Given the description of an element on the screen output the (x, y) to click on. 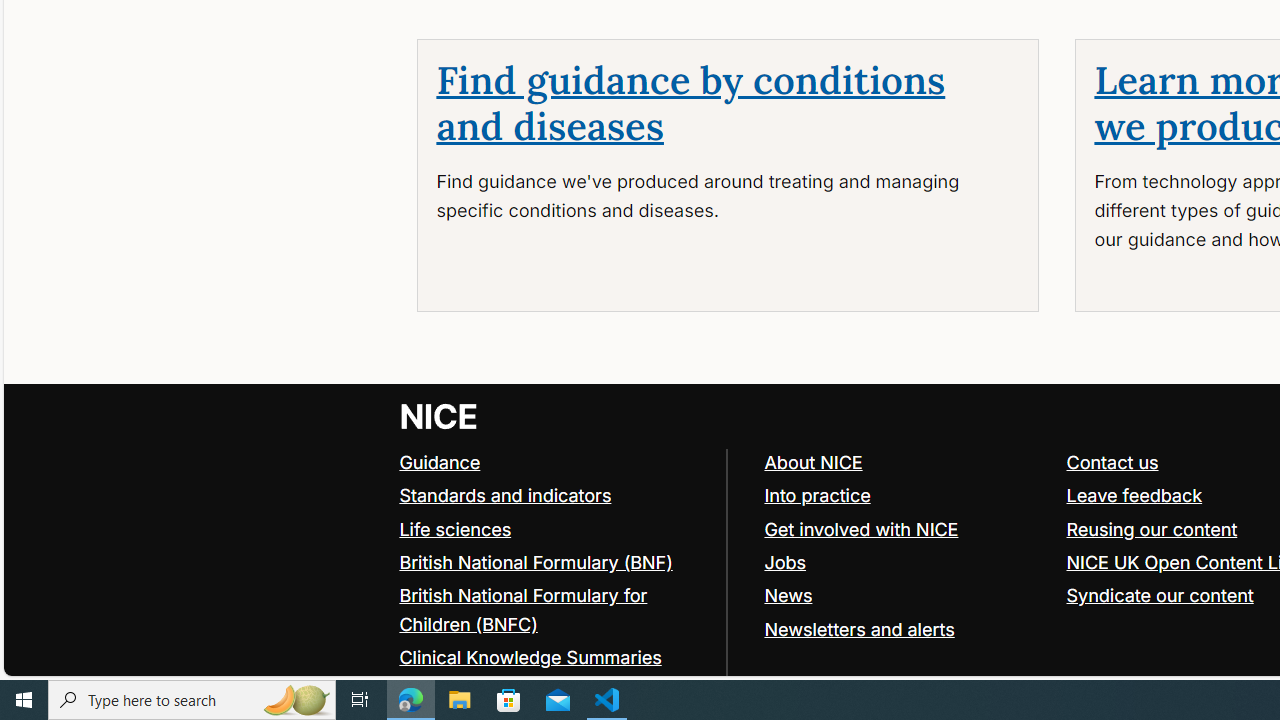
British National Formulary for Children (BNFC) (523, 609)
Jobs (785, 561)
About NICE (813, 461)
Contact us (1112, 461)
Get involved with NICE (861, 528)
British National Formulary for Children (BNFC) (554, 610)
Life sciences (554, 529)
Into practice (817, 494)
About NICE (906, 462)
Newsletters and alerts (906, 628)
Find guidance by conditions and diseases (690, 103)
